Given the description of an element on the screen output the (x, y) to click on. 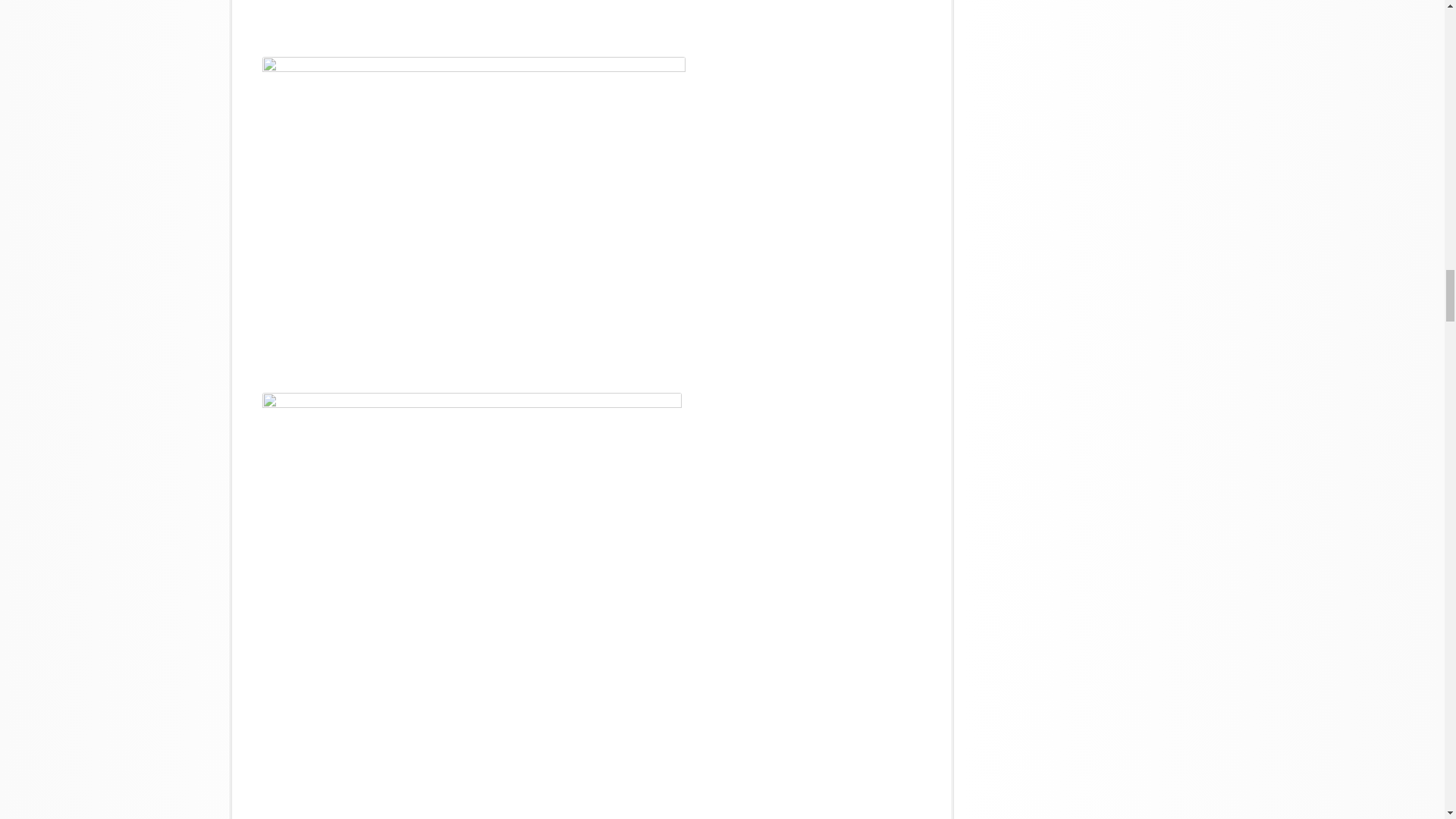
f (473, 18)
